Given the description of an element on the screen output the (x, y) to click on. 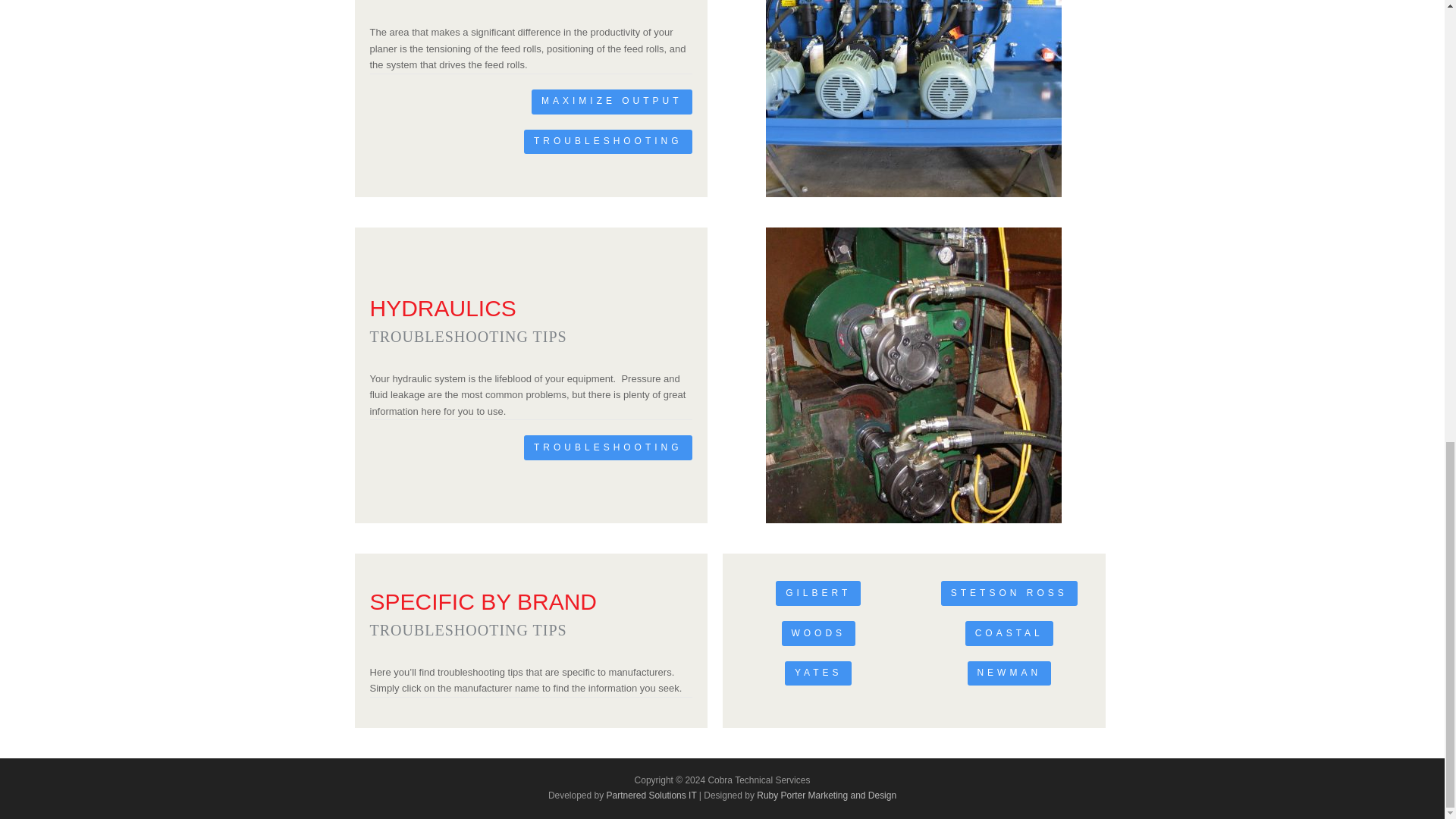
OLYMPUS DIGITAL CAMERA (913, 375)
GILBERT (818, 593)
TROUBLESHOOTING (607, 141)
TROUBLESHOOTING (607, 447)
MAXIMIZE OUTPUT (611, 101)
Hydraulic Drive System (913, 98)
